Given the description of an element on the screen output the (x, y) to click on. 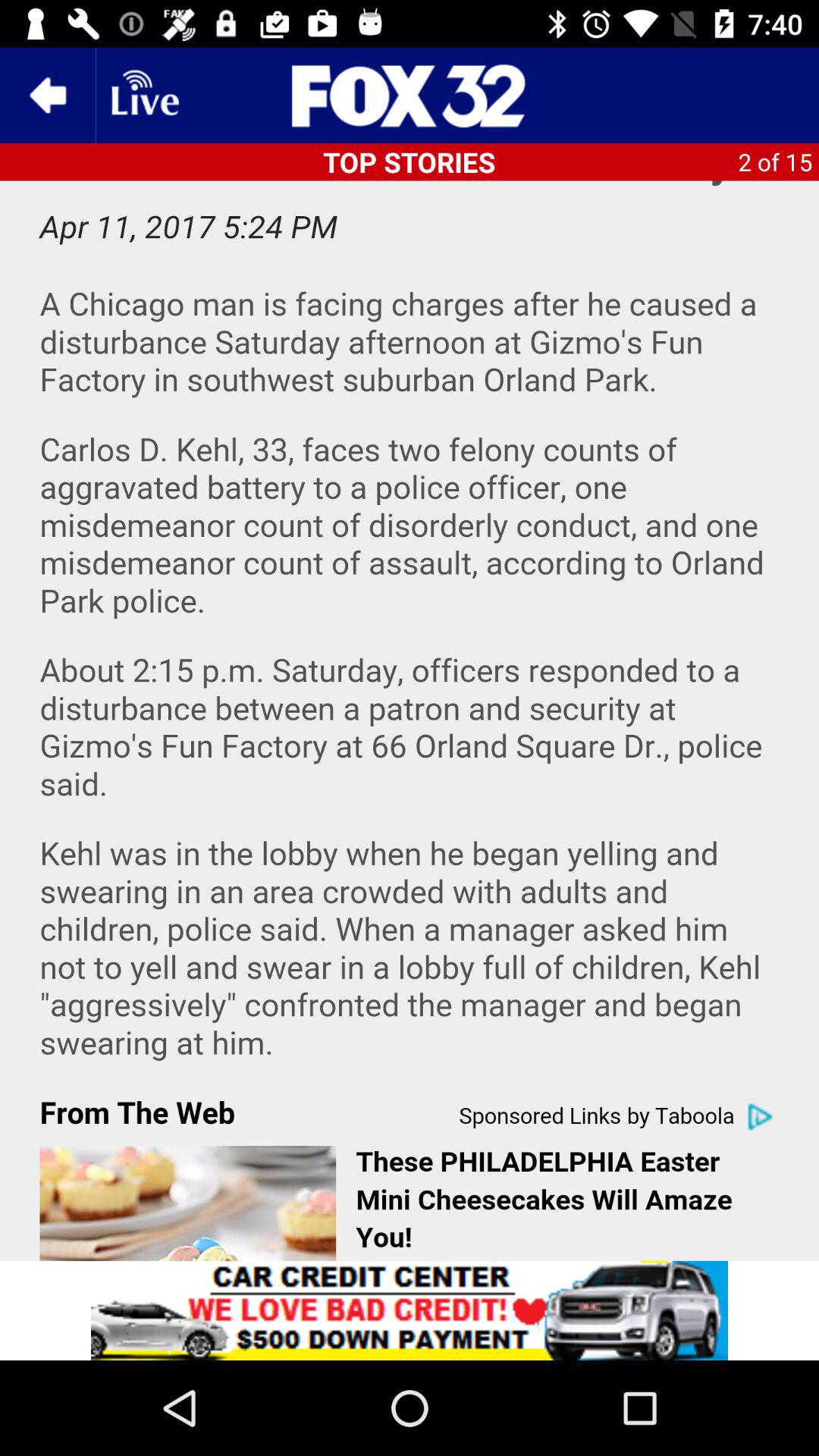
advertisement (409, 1310)
